Given the description of an element on the screen output the (x, y) to click on. 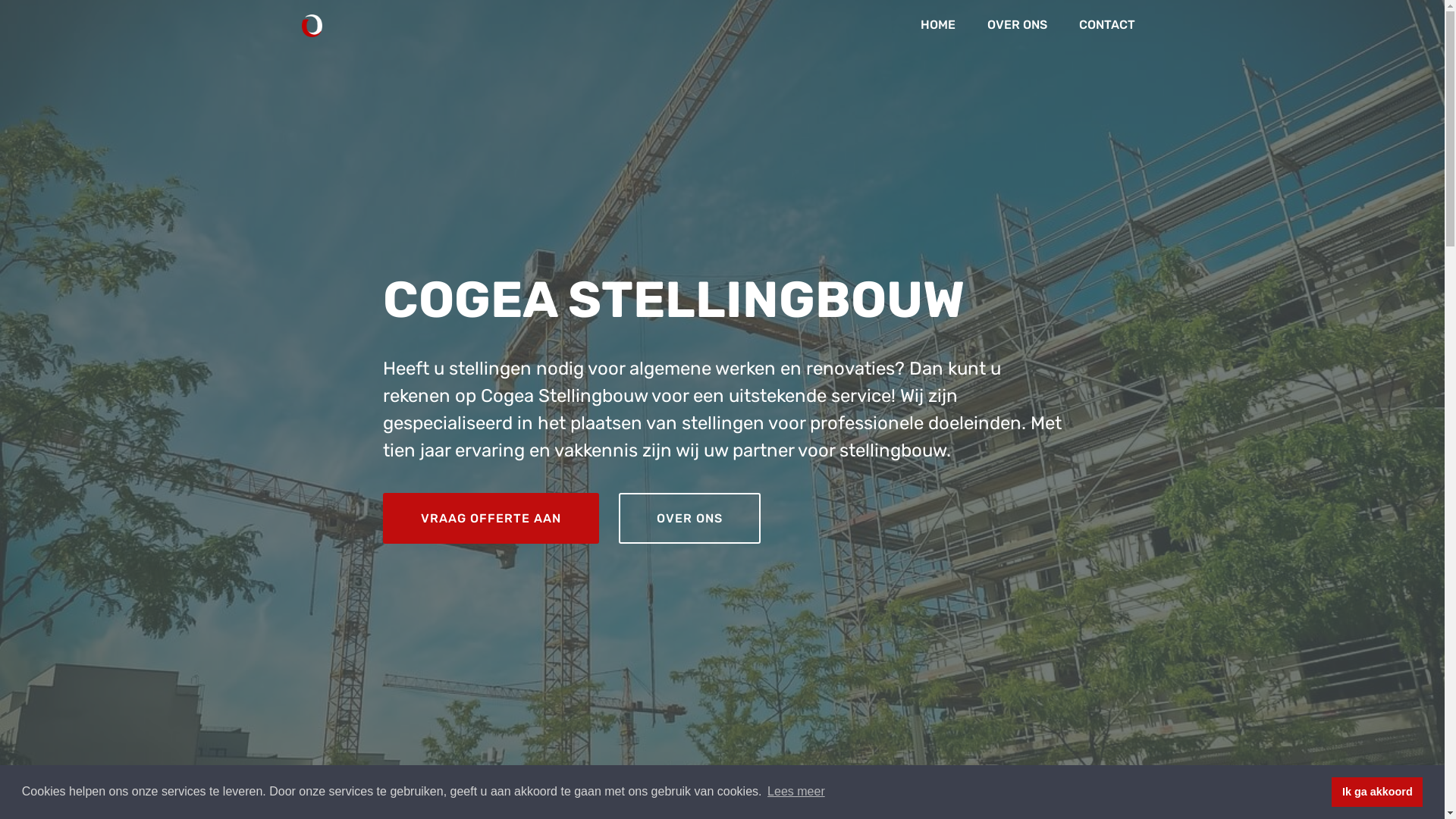
OVER ONS Element type: text (1016, 25)
Lees meer Element type: text (796, 791)
VRAAG OFFERTE AAN Element type: text (490, 517)
HOME Element type: text (937, 25)
OVER ONS Element type: text (689, 517)
Ik ga akkoord Element type: text (1376, 791)
CONTACT Element type: text (1106, 25)
